Given the description of an element on the screen output the (x, y) to click on. 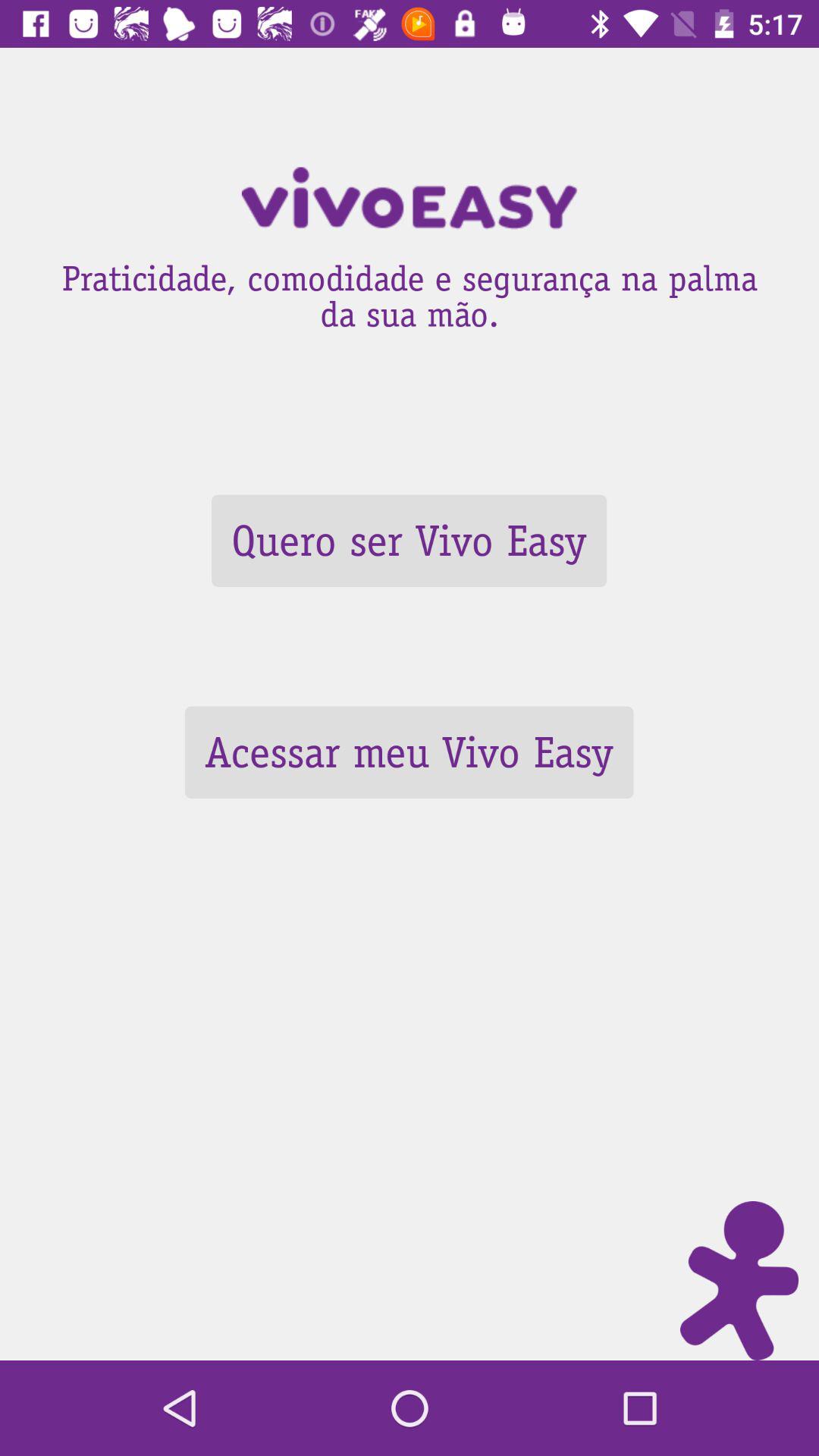
select icon above the acessar meu vivo icon (408, 540)
